Given the description of an element on the screen output the (x, y) to click on. 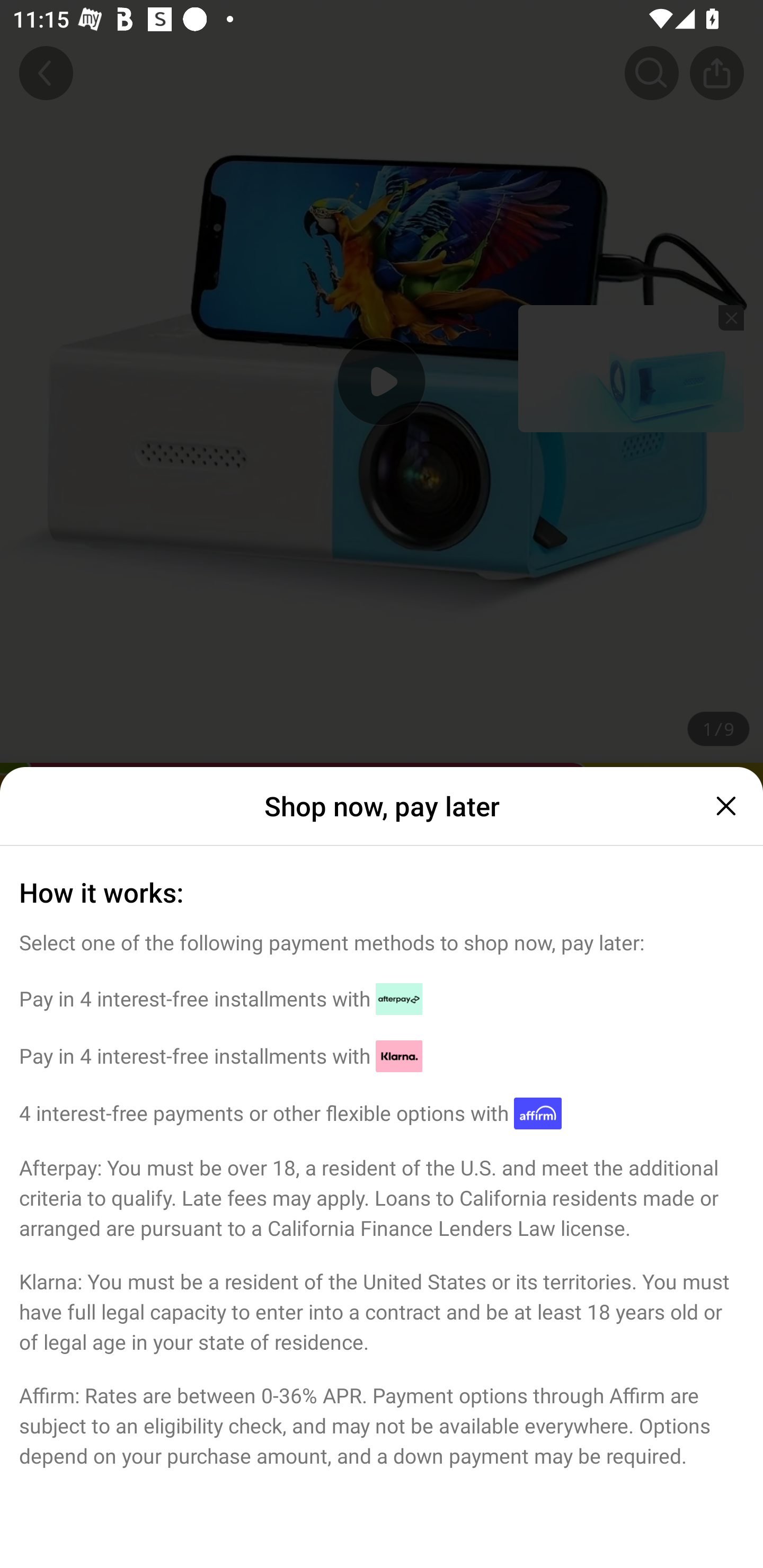
close (724, 805)
